Given the description of an element on the screen output the (x, y) to click on. 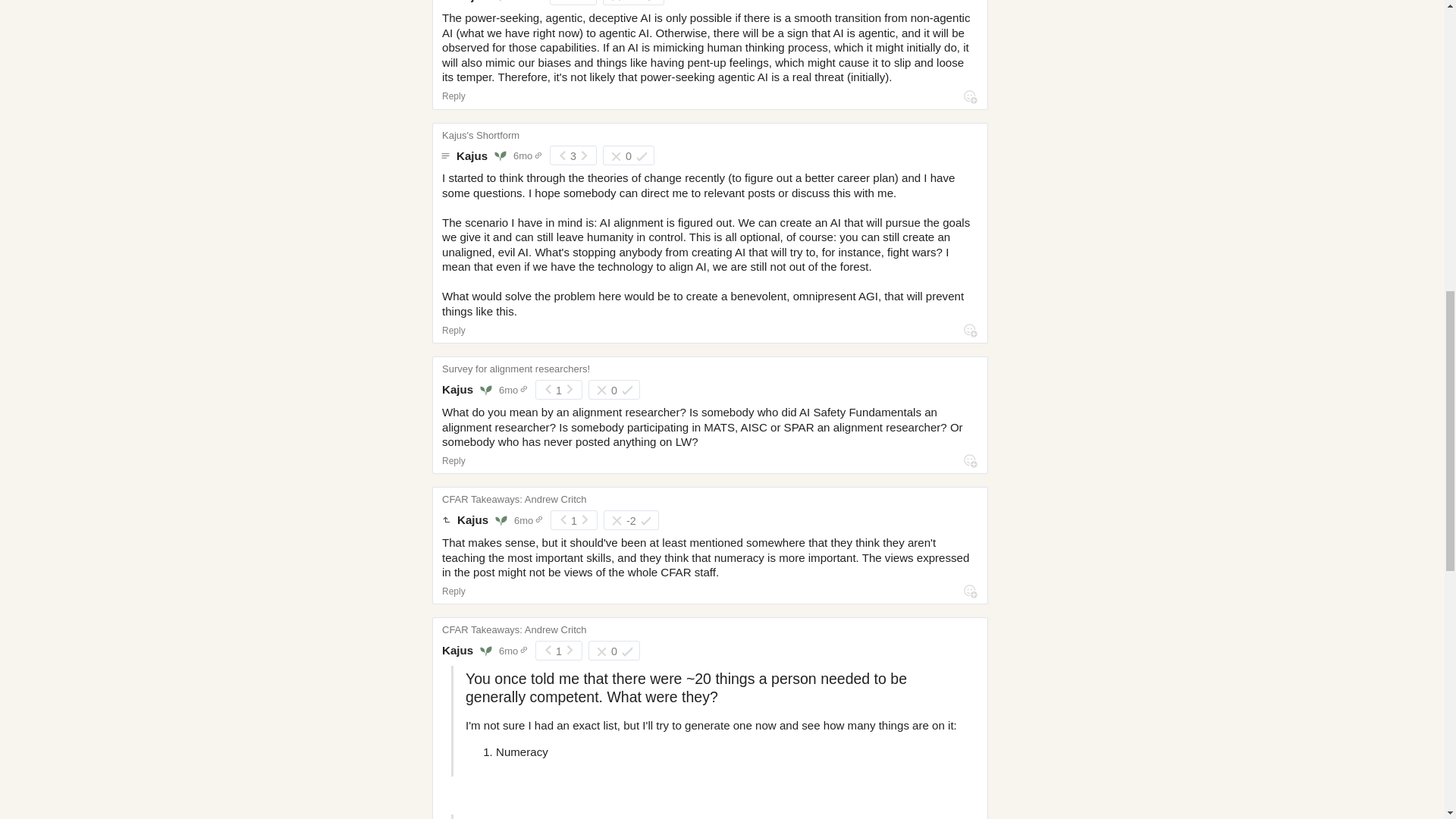
Kajus (472, 1)
Reply (453, 95)
Kajus (472, 155)
Kajus's Shortform (480, 131)
